Given the description of an element on the screen output the (x, y) to click on. 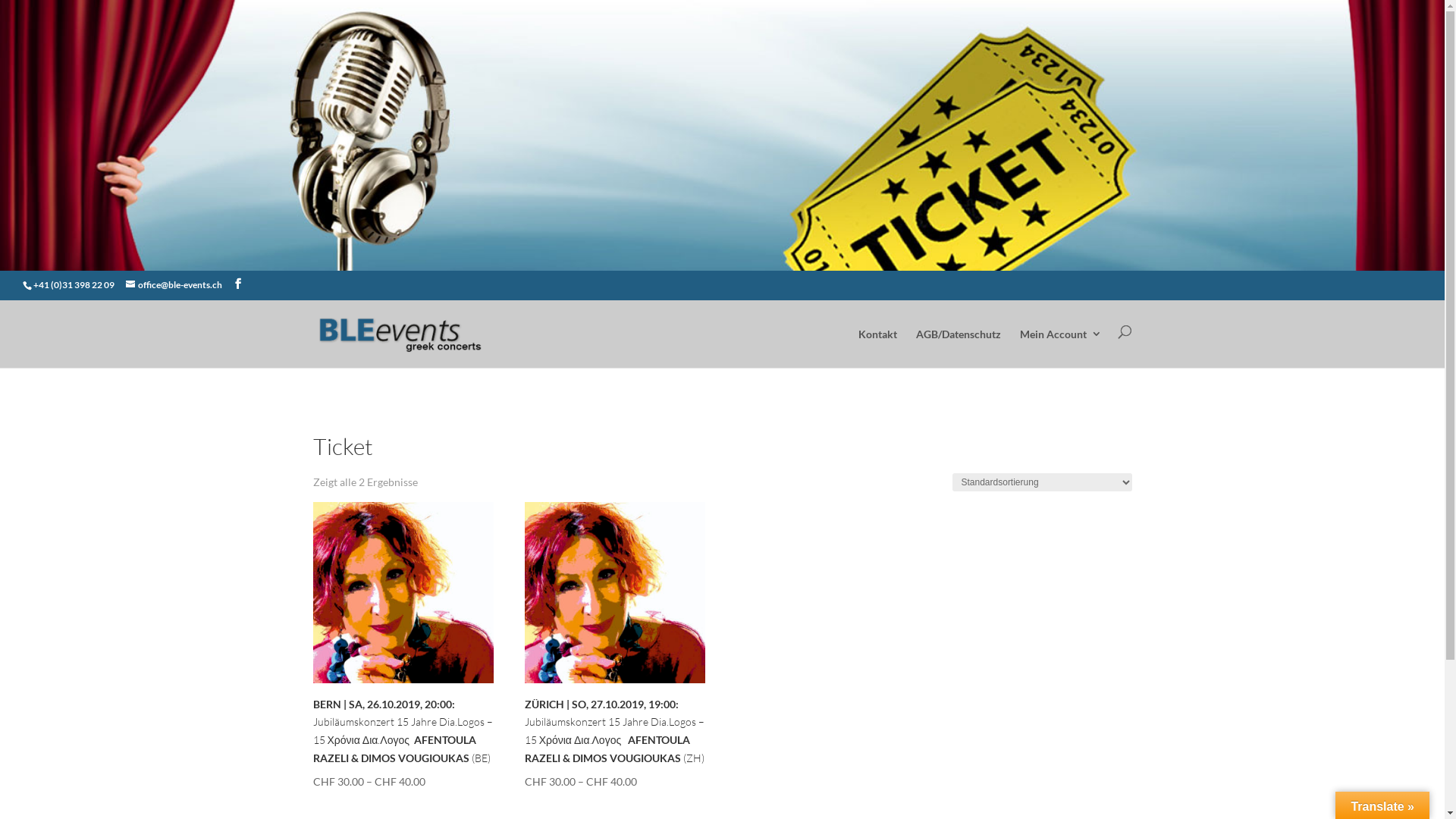
office@ble-events.ch Element type: text (173, 284)
Kontakt Element type: text (877, 346)
AGB/Datenschutz Element type: text (958, 346)
+41 (0)31 398 22 09 Element type: text (73, 284)
Mein Account Element type: text (1060, 346)
